Given the description of an element on the screen output the (x, y) to click on. 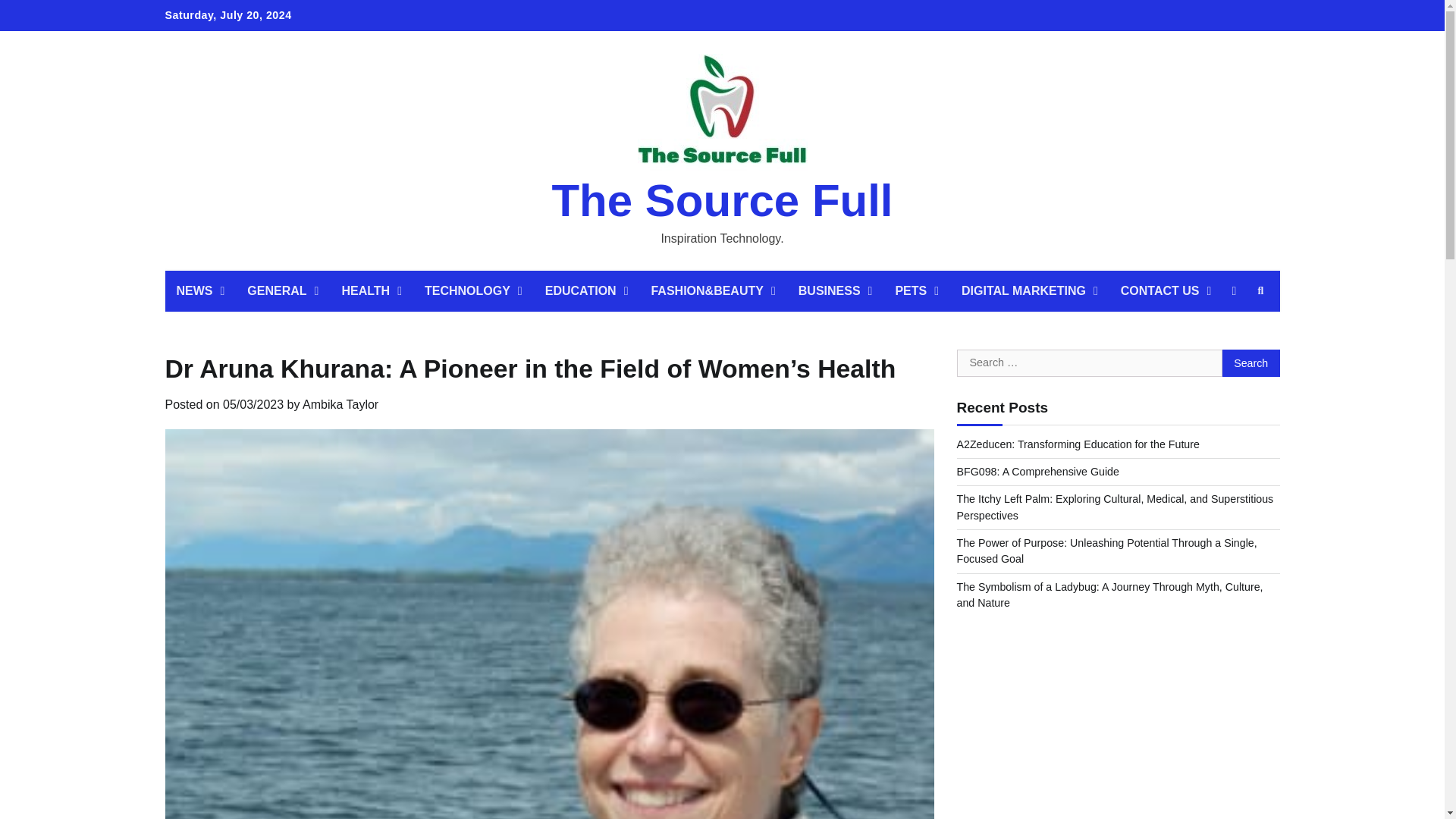
PETS (916, 291)
GENERAL (282, 291)
The Source Full (721, 200)
HEALTH (371, 291)
View Random Post (1233, 291)
Search (1251, 362)
EDUCATION (587, 291)
NEWS (200, 291)
TECHNOLOGY (473, 291)
Search (1260, 291)
Search (1251, 362)
BUSINESS (835, 291)
